Given the description of an element on the screen output the (x, y) to click on. 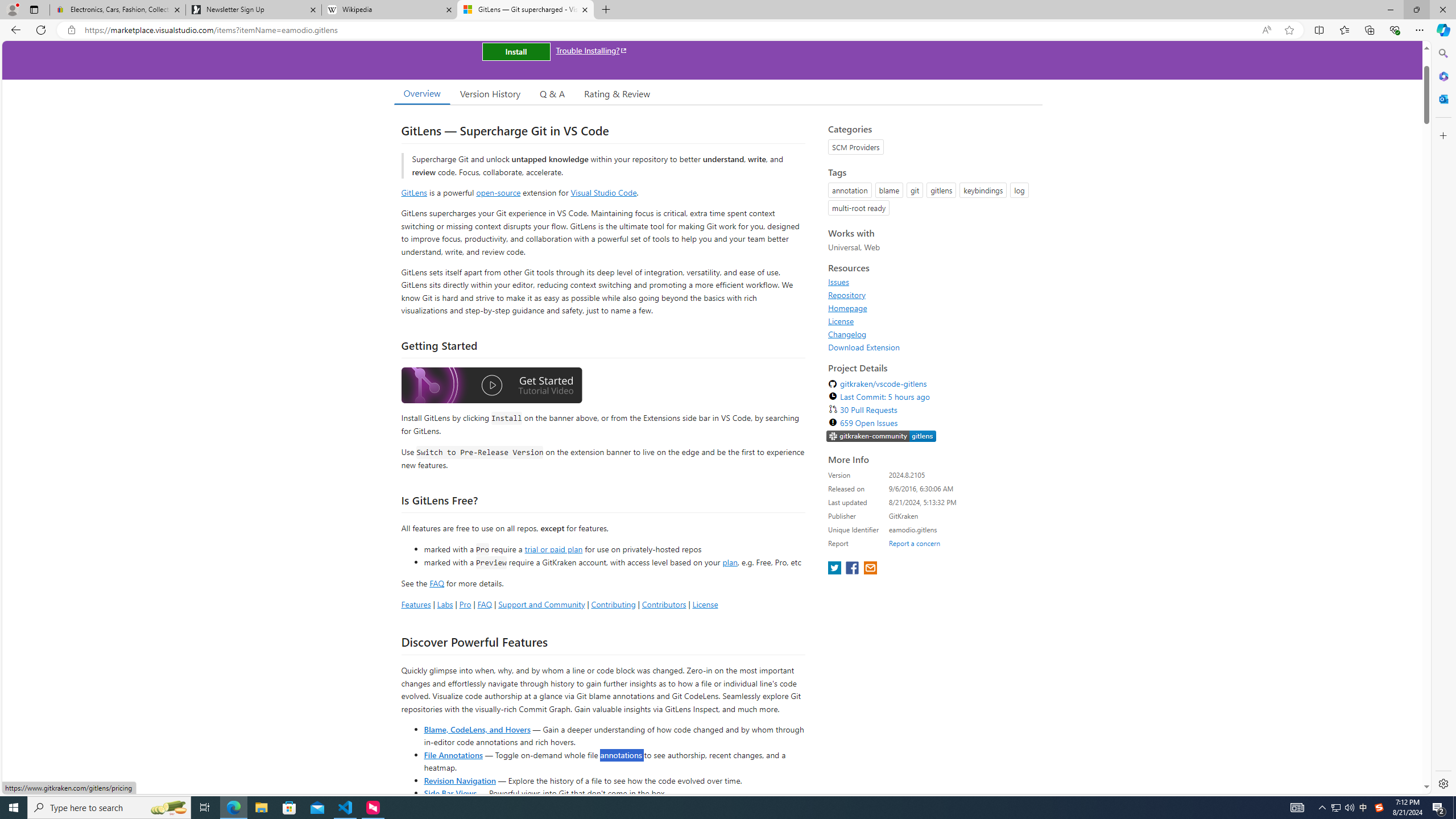
Revision Navigation (459, 780)
FAQ (484, 603)
Contributing (613, 603)
Newsletter Sign Up (253, 9)
plan (730, 562)
